Given the description of an element on the screen output the (x, y) to click on. 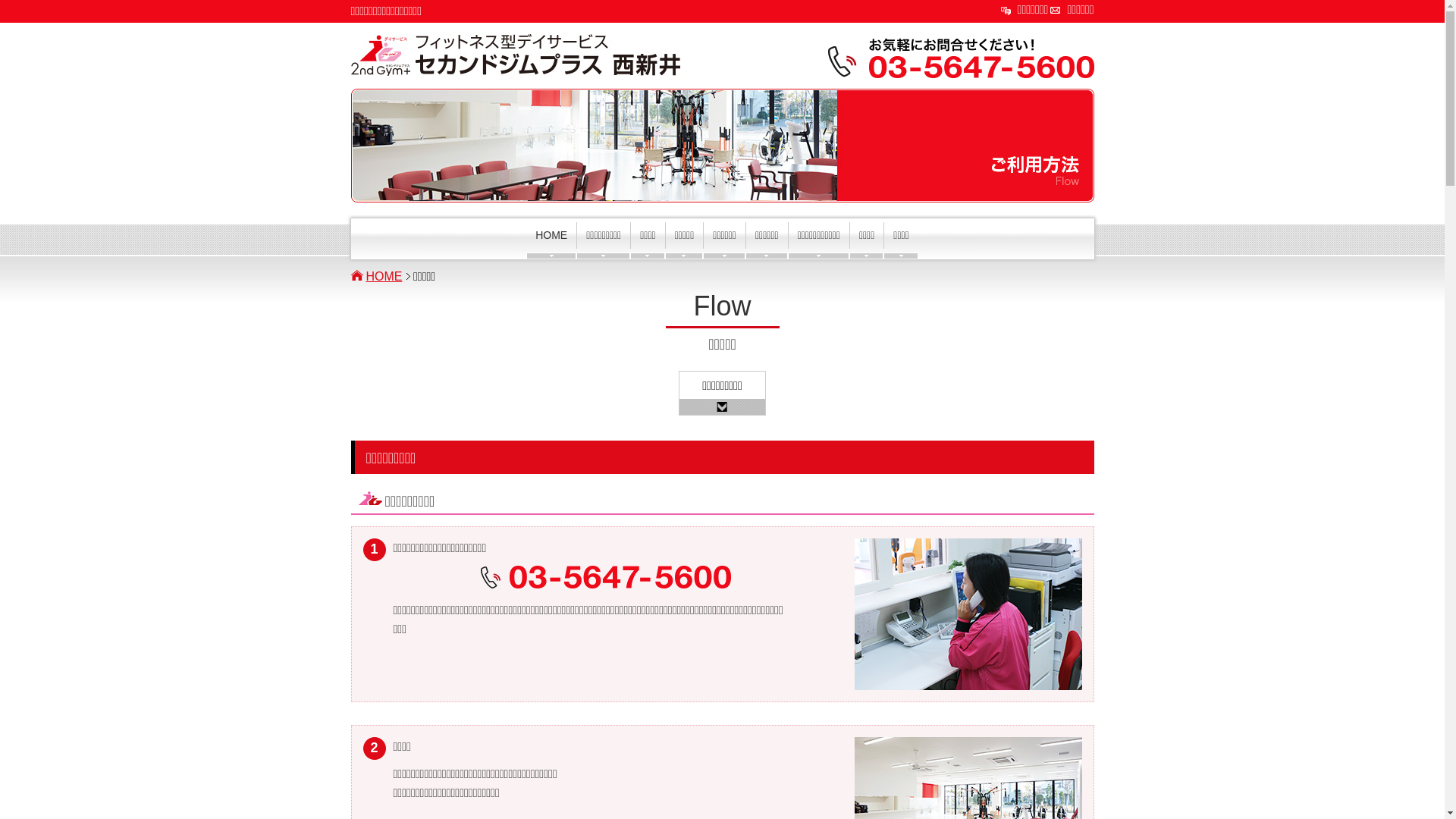
HOME Element type: text (387, 275)
HOME Element type: text (551, 240)
